Given the description of an element on the screen output the (x, y) to click on. 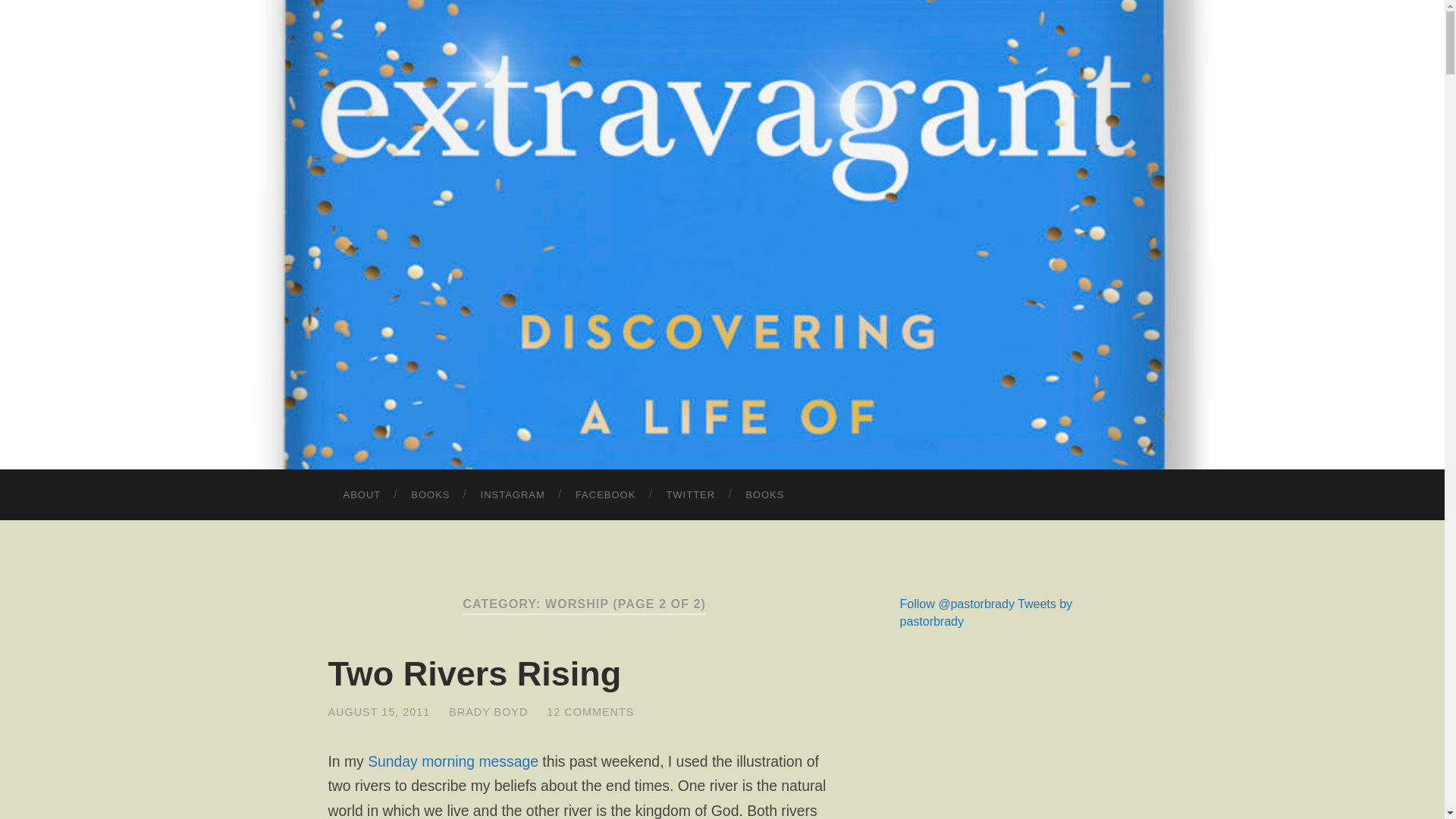
BRADY BOYD (487, 711)
INSTAGRAM (512, 494)
BOOKS (764, 494)
Two Rivers Rising (378, 711)
ABOUT (361, 494)
Posts by Brady Boyd (487, 711)
12 COMMENTS (590, 711)
Sunday morning message (453, 760)
TWITTER (690, 494)
BOOKS (430, 494)
